Given the description of an element on the screen output the (x, y) to click on. 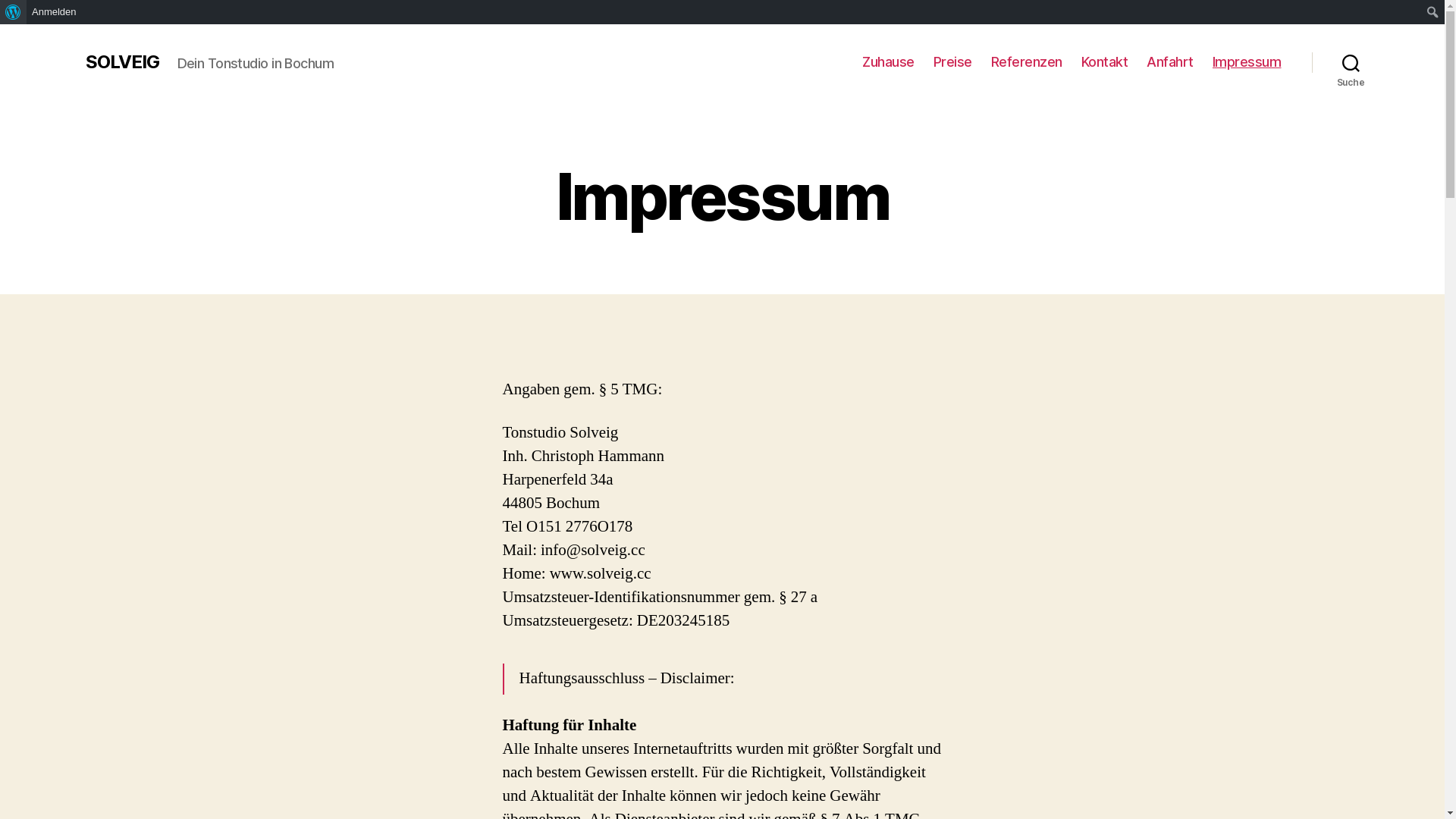
Anfahrt Element type: text (1169, 61)
Kontakt Element type: text (1104, 61)
Zuhause Element type: text (888, 61)
SOLVEIG Element type: text (121, 62)
Preise Element type: text (952, 61)
Suche Element type: text (1350, 61)
Suchen Element type: text (16, 12)
Impressum Element type: text (1246, 61)
Anmelden Element type: text (54, 12)
Referenzen Element type: text (1026, 61)
